Given the description of an element on the screen output the (x, y) to click on. 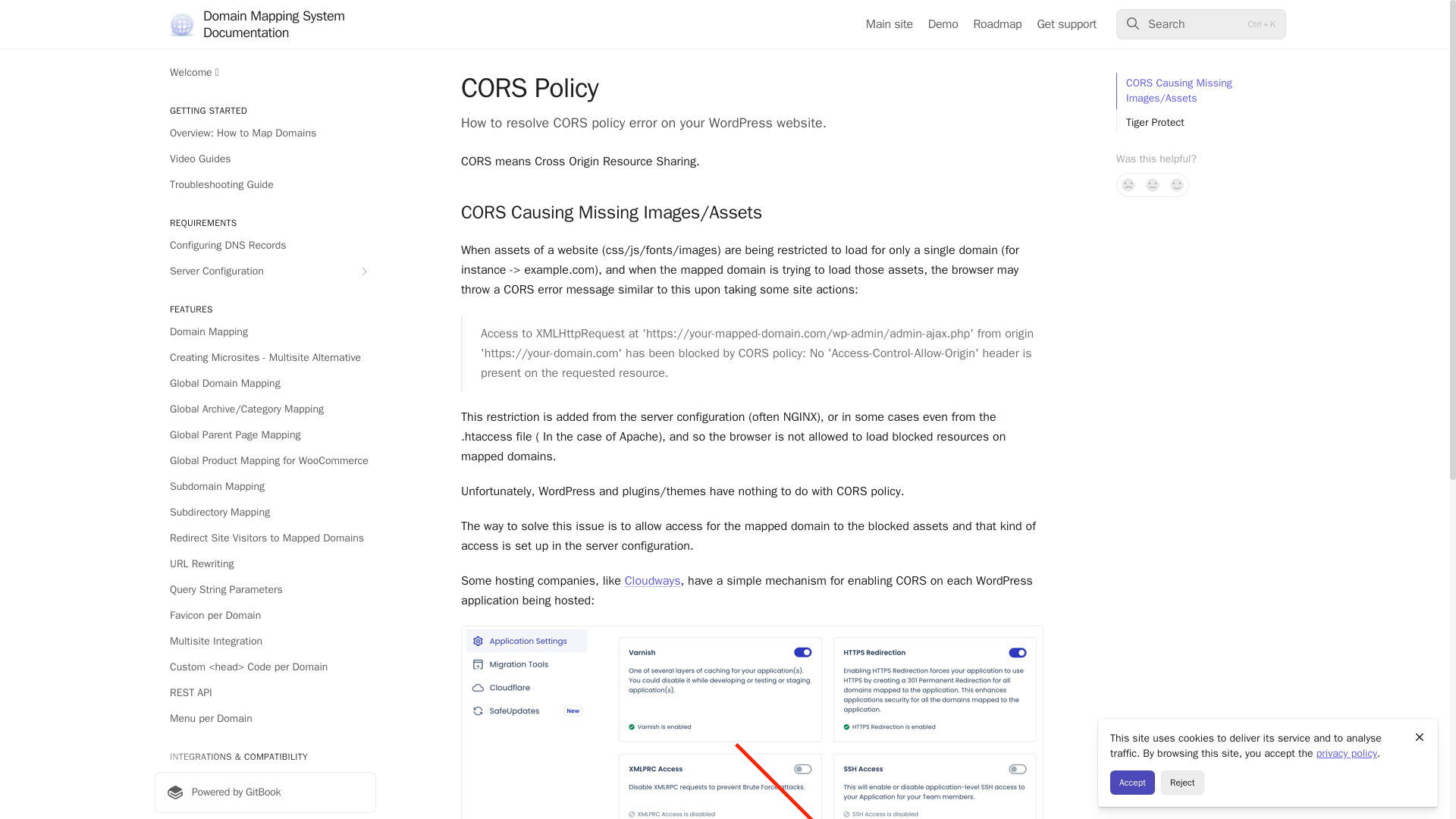
Favicon per Domain (264, 615)
Server Configuration (264, 271)
Subdirectory Mapping (264, 512)
Redirect Site Visitors to Mapped Domains (264, 538)
Roadmap (998, 24)
Subdomain Mapping (264, 486)
URL Rewriting (264, 564)
Not sure (1152, 184)
Overview: How to Map Domains (264, 133)
Supported Hosting Platforms (264, 805)
